Given the description of an element on the screen output the (x, y) to click on. 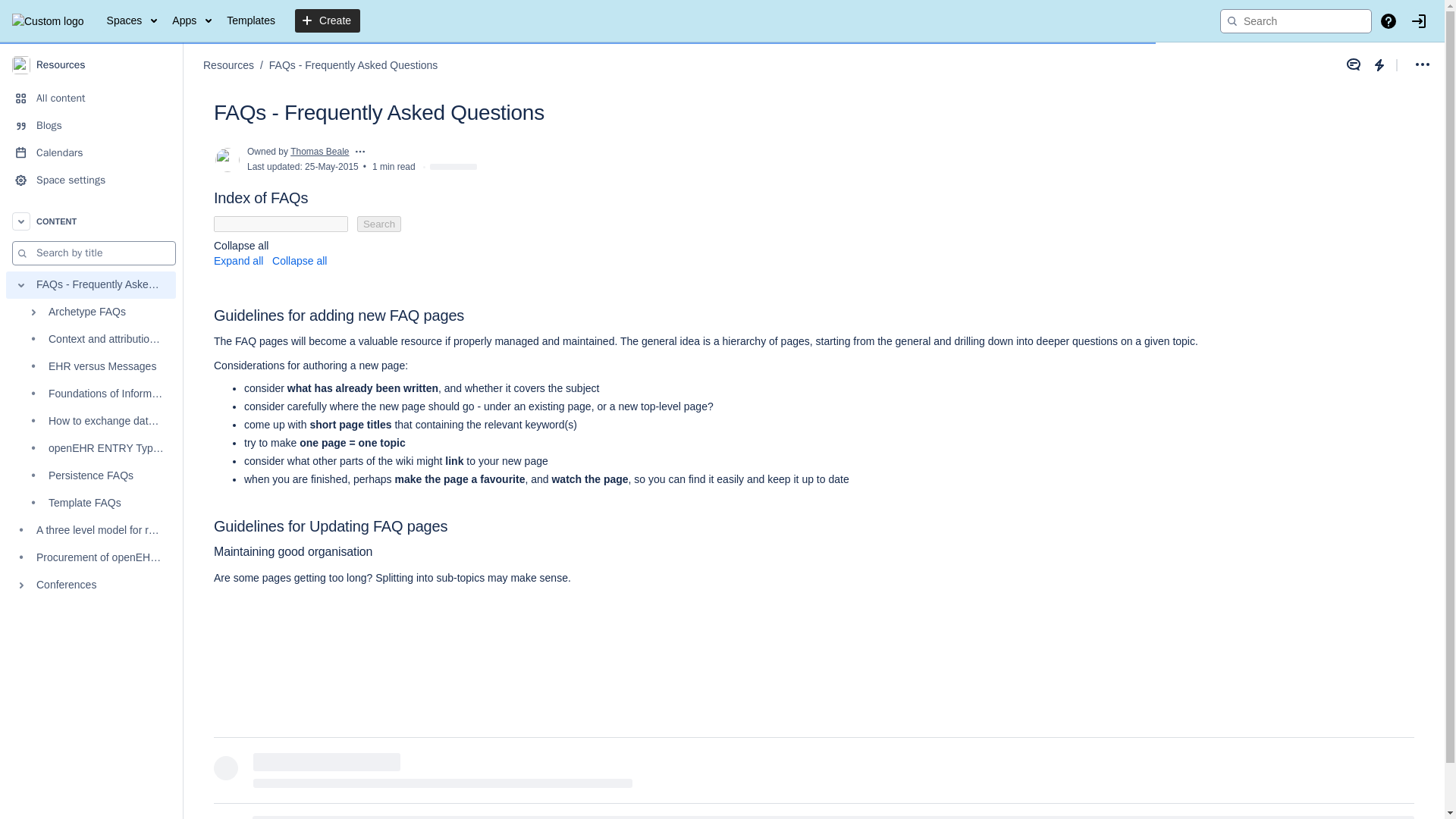
Resources (90, 64)
25-May-2015 (331, 166)
Create (327, 21)
FAQs - Frequently Asked Questions (90, 284)
Spaces (131, 21)
FAQs - Frequently Asked Questions (353, 64)
Space settings (90, 180)
CONTENT (90, 221)
Templates (250, 21)
Apps (191, 21)
